Given the description of an element on the screen output the (x, y) to click on. 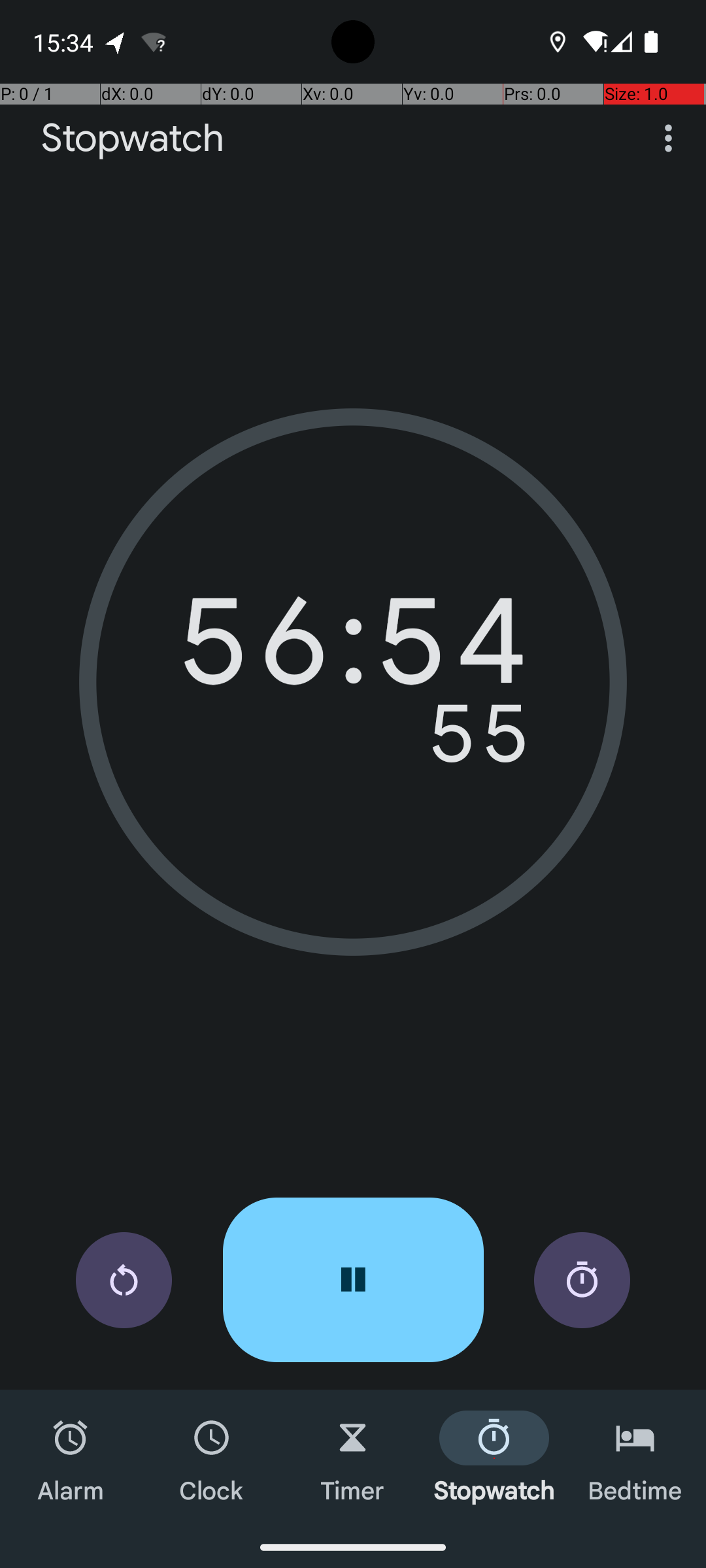
56:46 Element type: android.widget.TextView (352, 650)
